Given the description of an element on the screen output the (x, y) to click on. 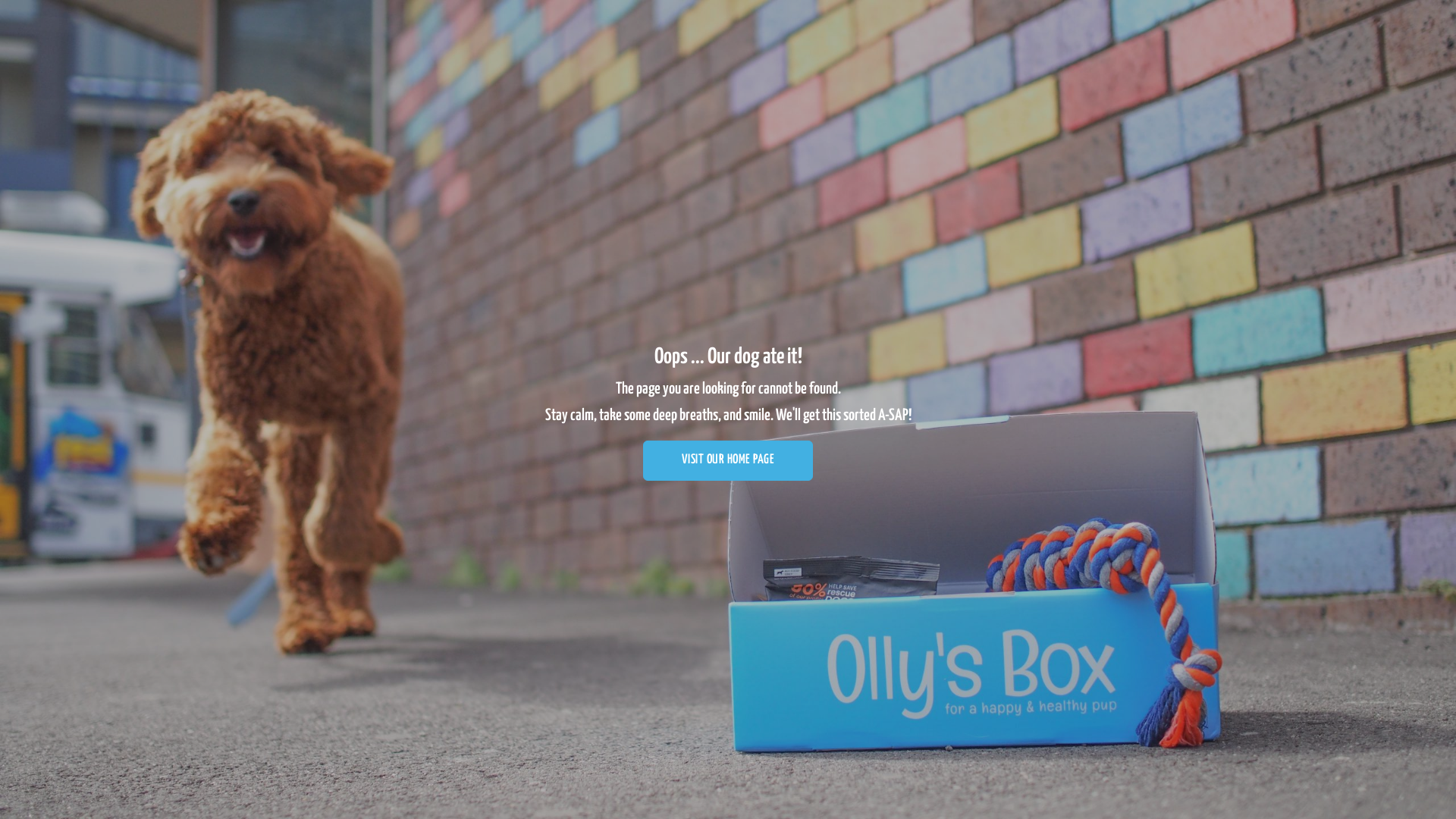
VISIT OUR HOME PAGE Element type: text (727, 460)
